Given the description of an element on the screen output the (x, y) to click on. 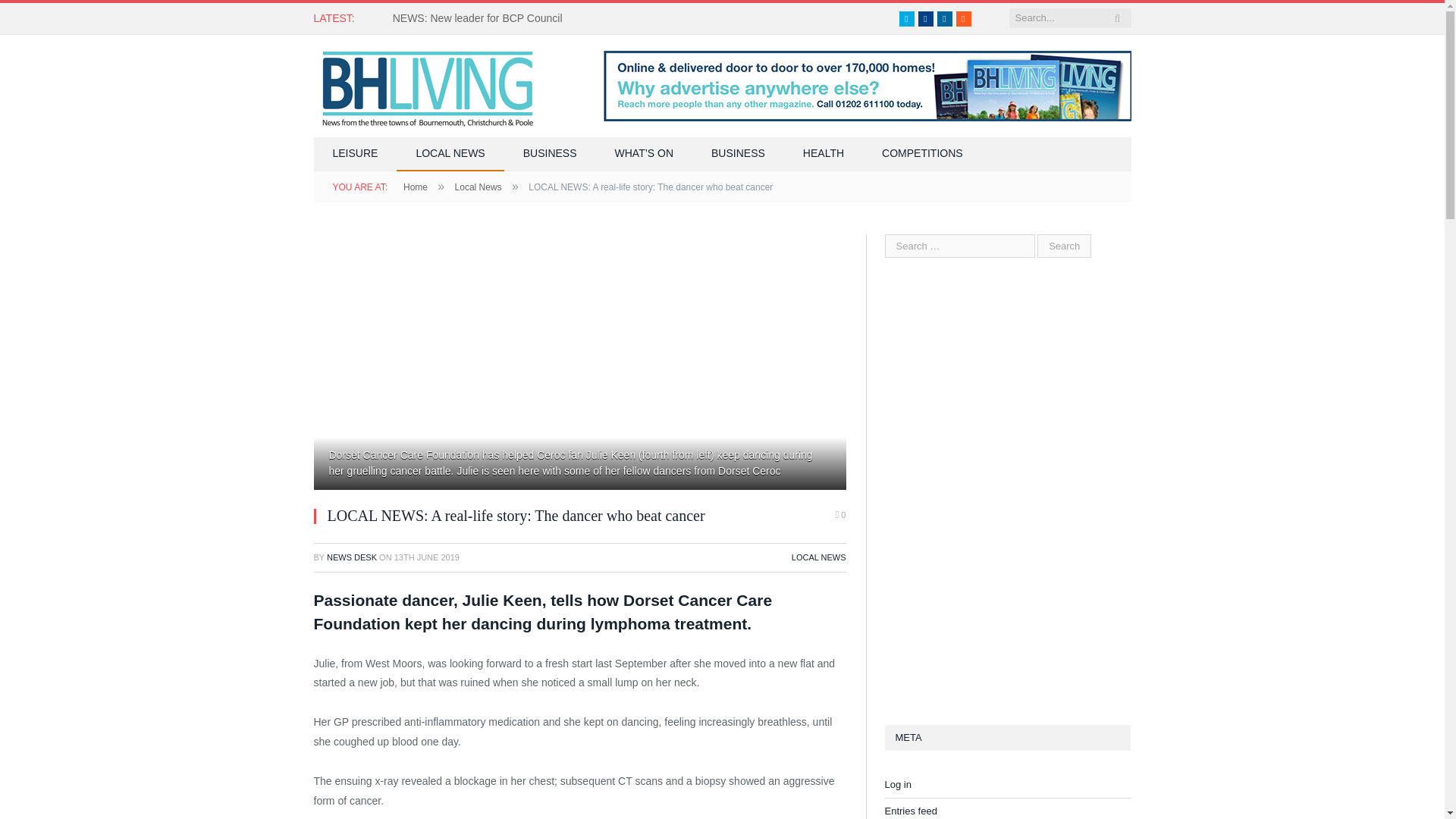
HEALTH (823, 154)
Home (415, 186)
Twitter (906, 18)
COMPETITIONS (922, 154)
LinkedIn (944, 18)
LEISURE (355, 154)
NEWS: New leader for BCP Council (481, 18)
BUSINESS (549, 154)
RSS (963, 18)
LOCAL NEWS (449, 154)
Facebook (925, 18)
LOCAL NEWS (818, 556)
Local News (478, 186)
RSS (963, 18)
NEWS: New leader for BCP Council (481, 18)
